Given the description of an element on the screen output the (x, y) to click on. 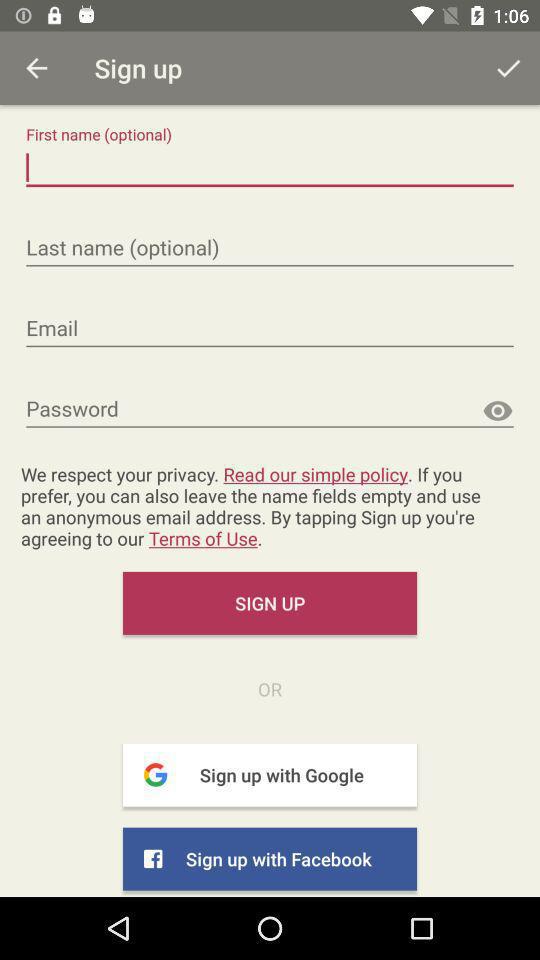
last name input (270, 248)
